Given the description of an element on the screen output the (x, y) to click on. 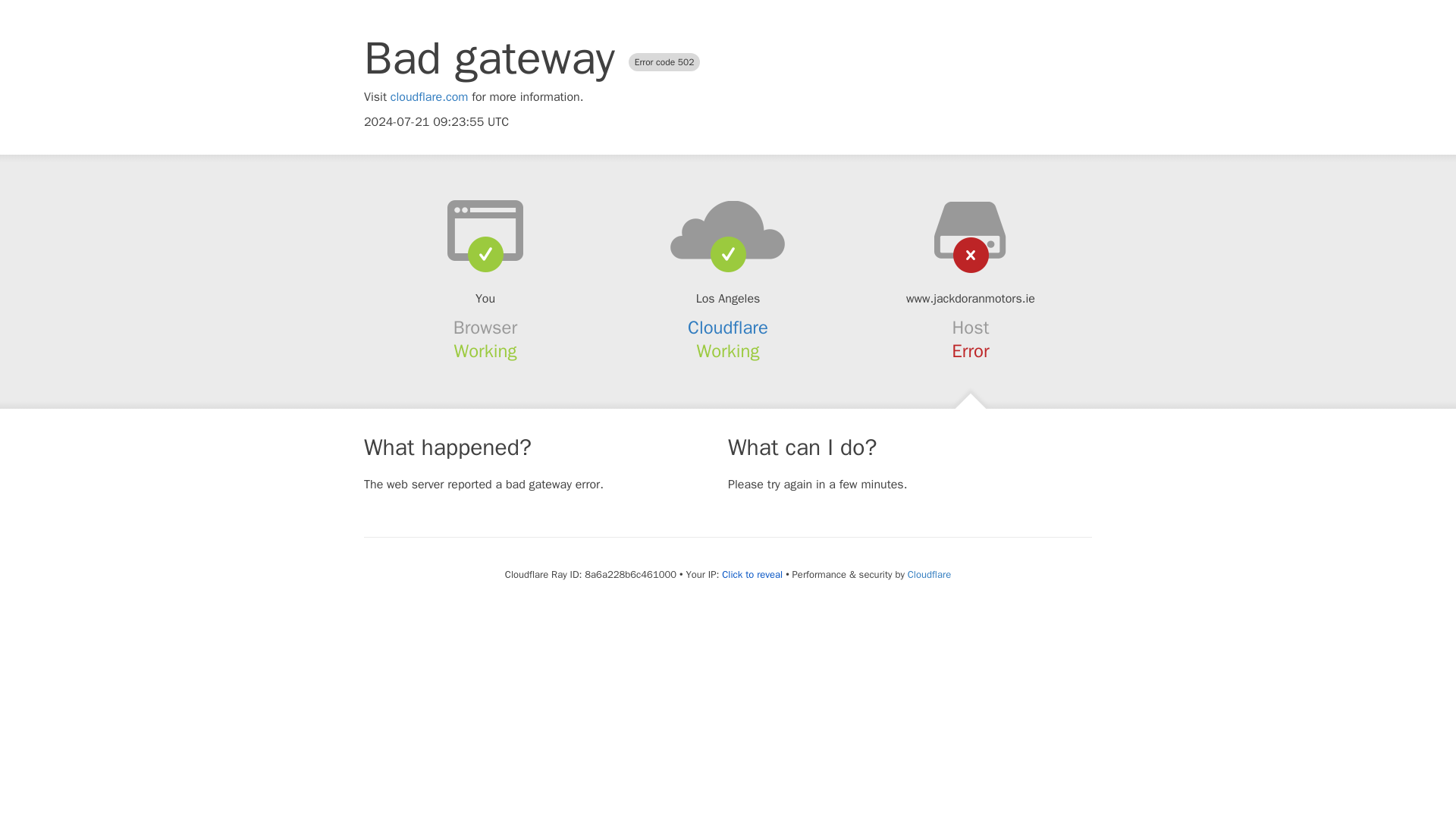
Click to reveal (752, 574)
Cloudflare (727, 327)
Cloudflare (928, 574)
cloudflare.com (429, 96)
